Given the description of an element on the screen output the (x, y) to click on. 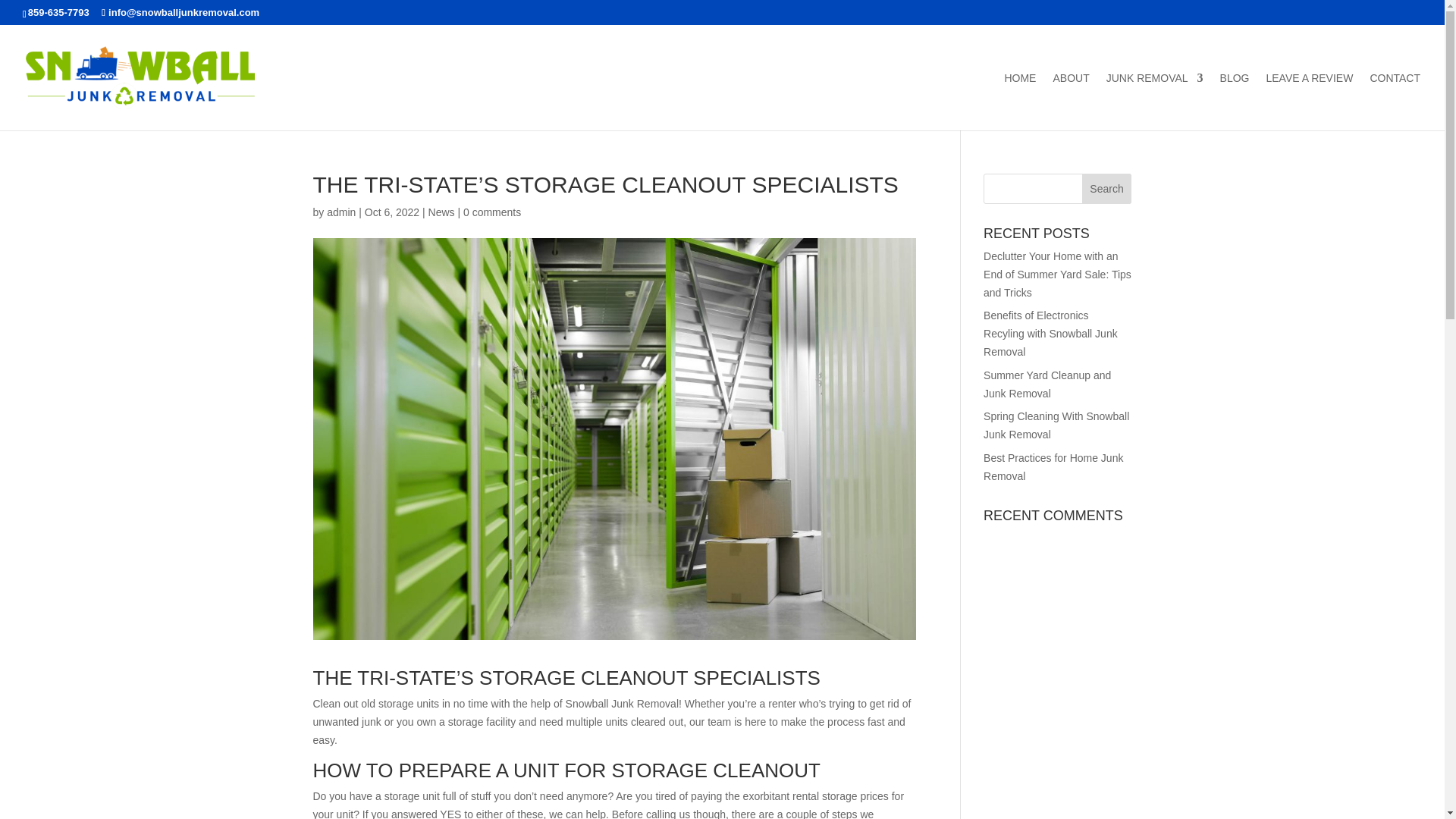
News (441, 212)
Benefits of Electronics Recyling with Snowball Junk Removal (1051, 333)
Search (1106, 188)
admin (340, 212)
Posts by admin (340, 212)
0 comments (492, 212)
LEAVE A REVIEW (1308, 101)
JUNK REMOVAL (1155, 101)
Search (1106, 188)
